Given the description of an element on the screen output the (x, y) to click on. 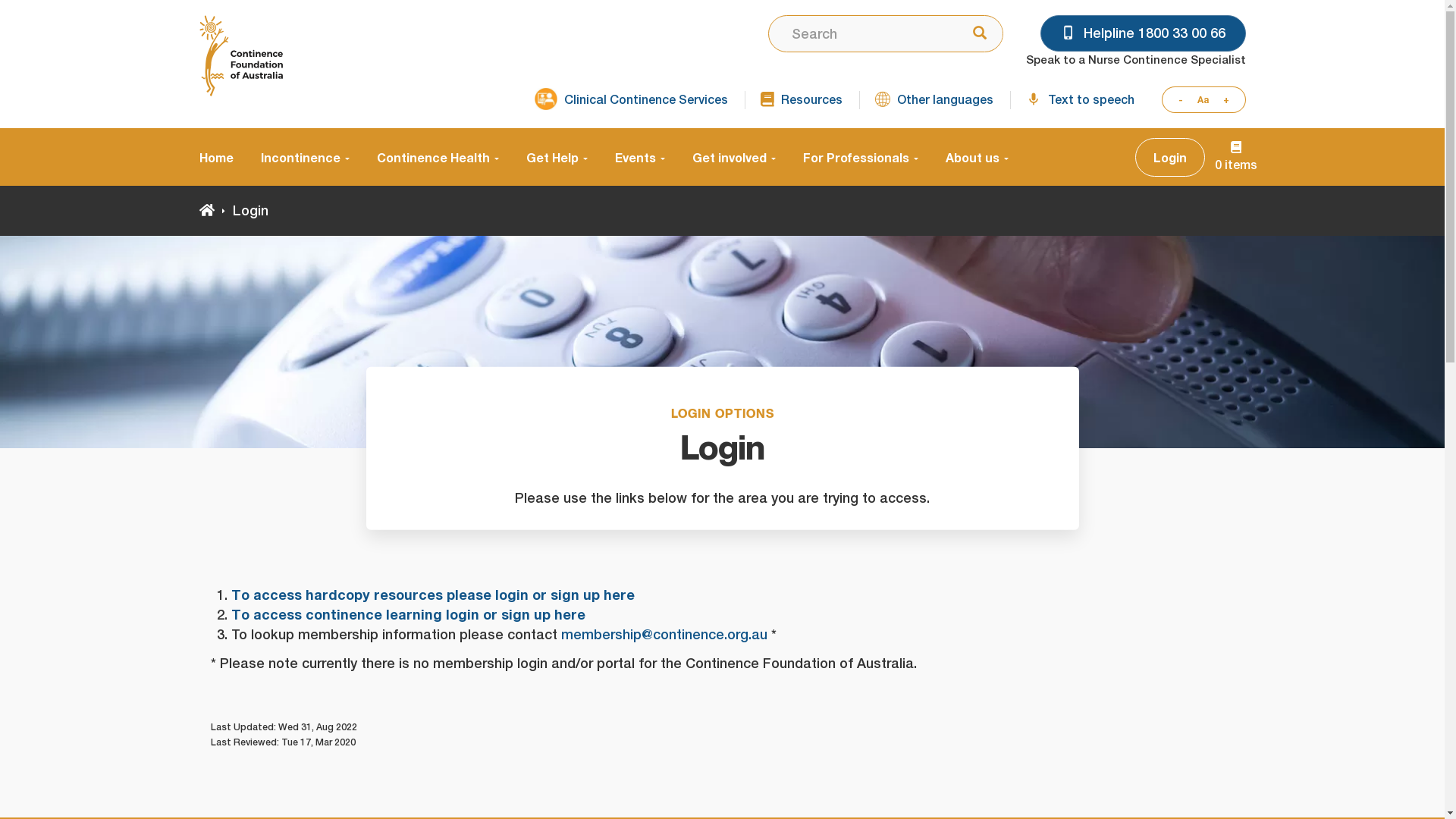
membership@continence.org.au Element type: text (664, 634)
0 items Element type: text (1235, 156)
Enter the terms you wish to search for. Element type: hover (859, 33)
Clinical Continence Services Element type: text (630, 99)
Helpline 1800 33 00 66 Element type: text (1142, 33)
For Professionals Element type: text (859, 156)
- Element type: text (1175, 99)
Get involved Element type: text (732, 156)
Get Help Element type: text (556, 156)
Events Element type: text (638, 156)
Resources Element type: text (800, 100)
To access hardcopy resources please login or sign up here Element type: text (431, 594)
Home Element type: hover (205, 210)
Continence Health Element type: text (436, 156)
Login Element type: text (1169, 157)
About us Element type: text (969, 156)
Home Element type: text (222, 156)
Text to speech Element type: text (1079, 100)
+ Element type: text (1229, 99)
Skip to main content Element type: text (0, 0)
To access continence learning login or sign up here Element type: text (407, 614)
Other languages Element type: text (933, 100)
Search Element type: text (975, 33)
Home Element type: hover (240, 55)
Incontinence Element type: text (305, 156)
Aa Element type: text (1202, 99)
